Given the description of an element on the screen output the (x, y) to click on. 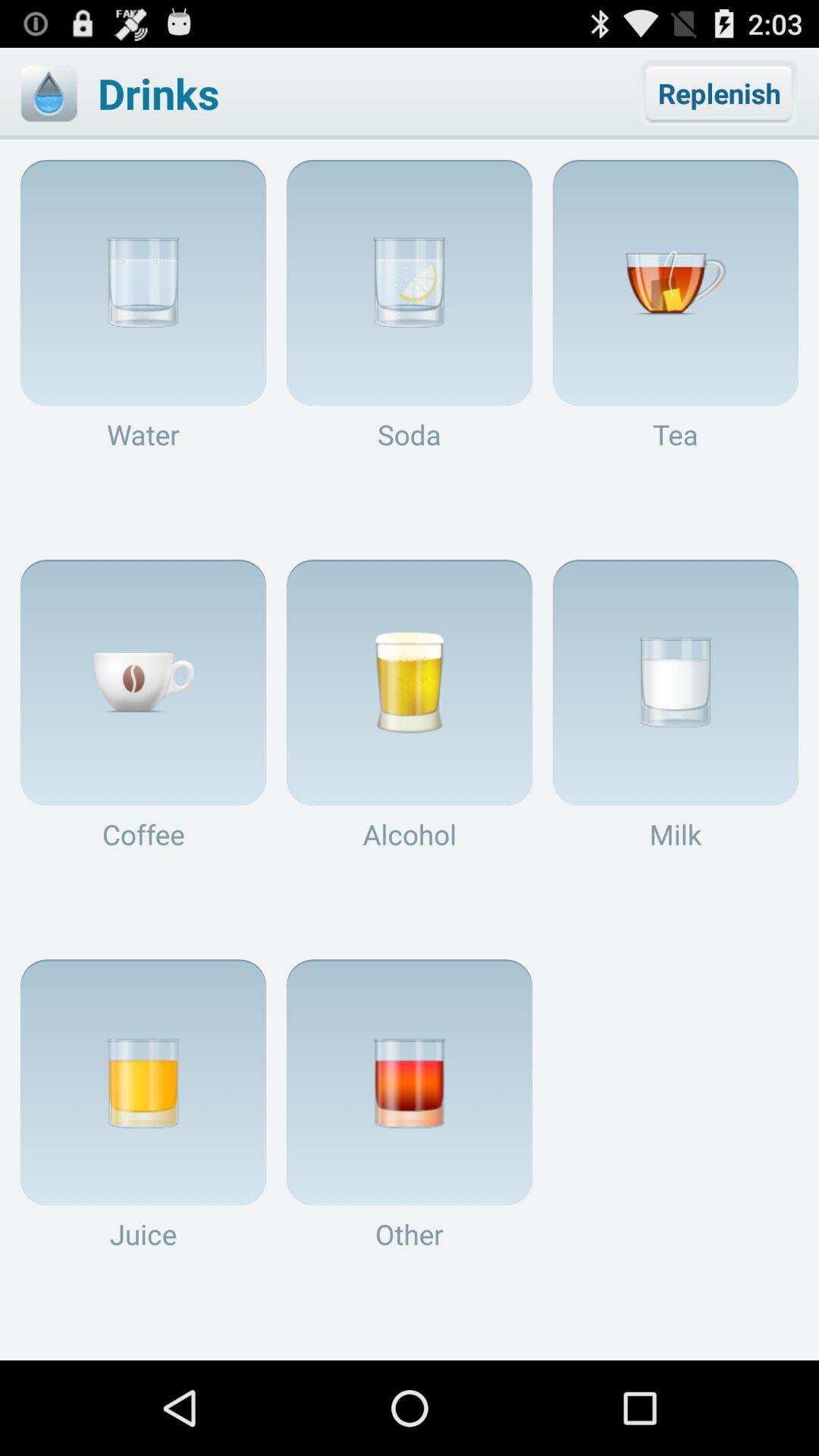
show more in drinks (48, 93)
